Given the description of an element on the screen output the (x, y) to click on. 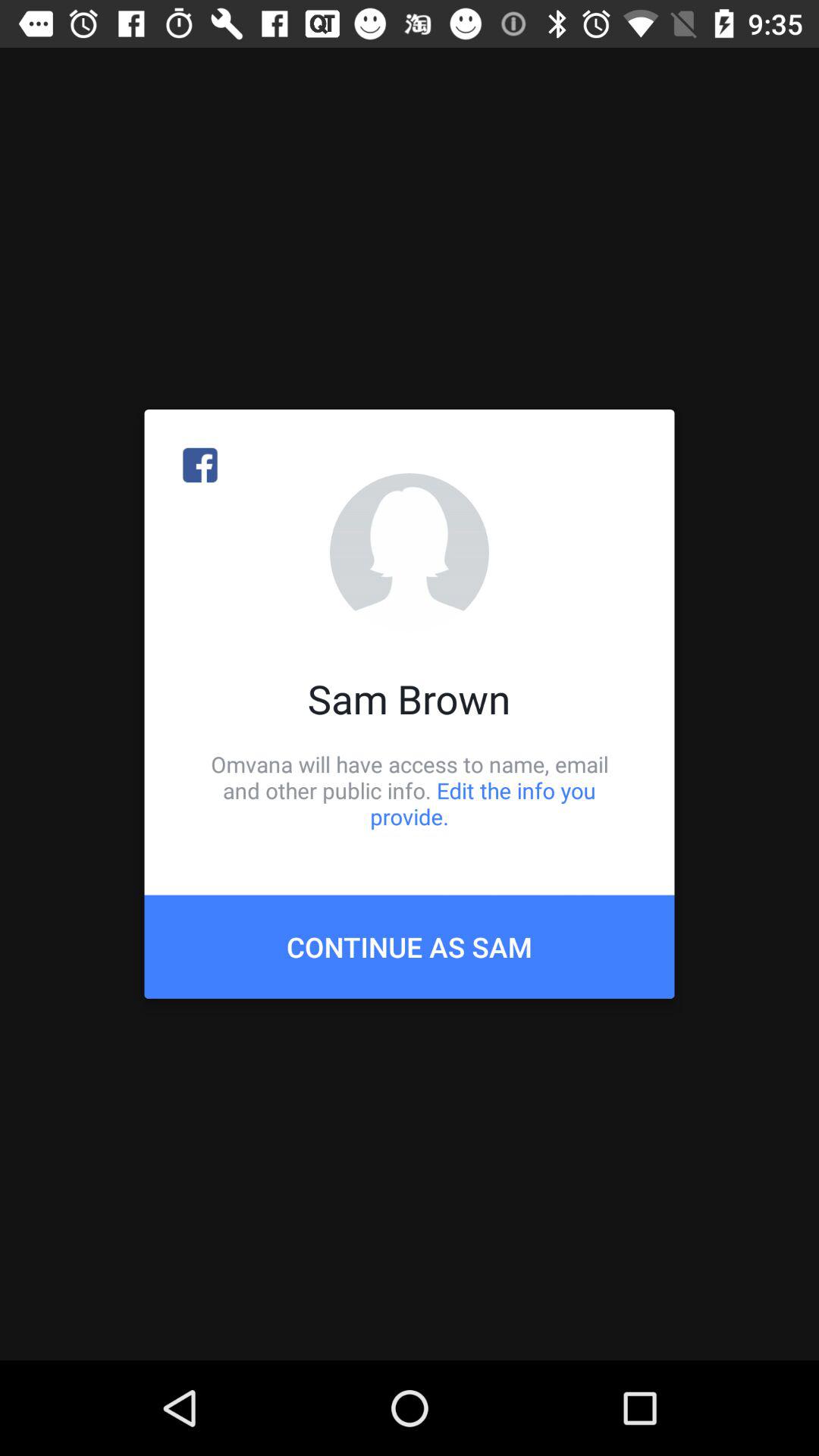
press item below the omvana will have (409, 946)
